Given the description of an element on the screen output the (x, y) to click on. 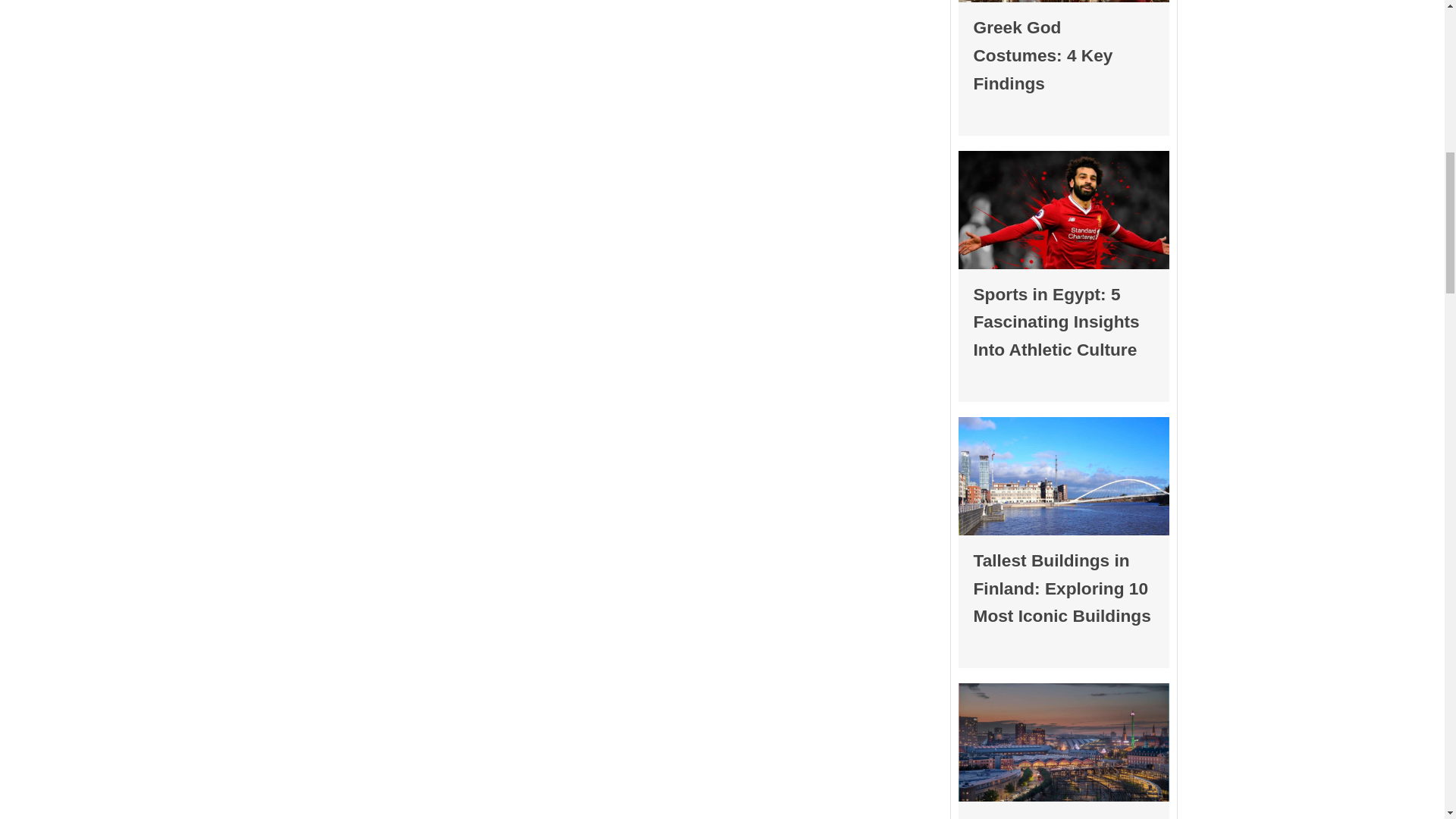
Greek God Costumes: 4 Key Findings (1043, 55)
